Given the description of an element on the screen output the (x, y) to click on. 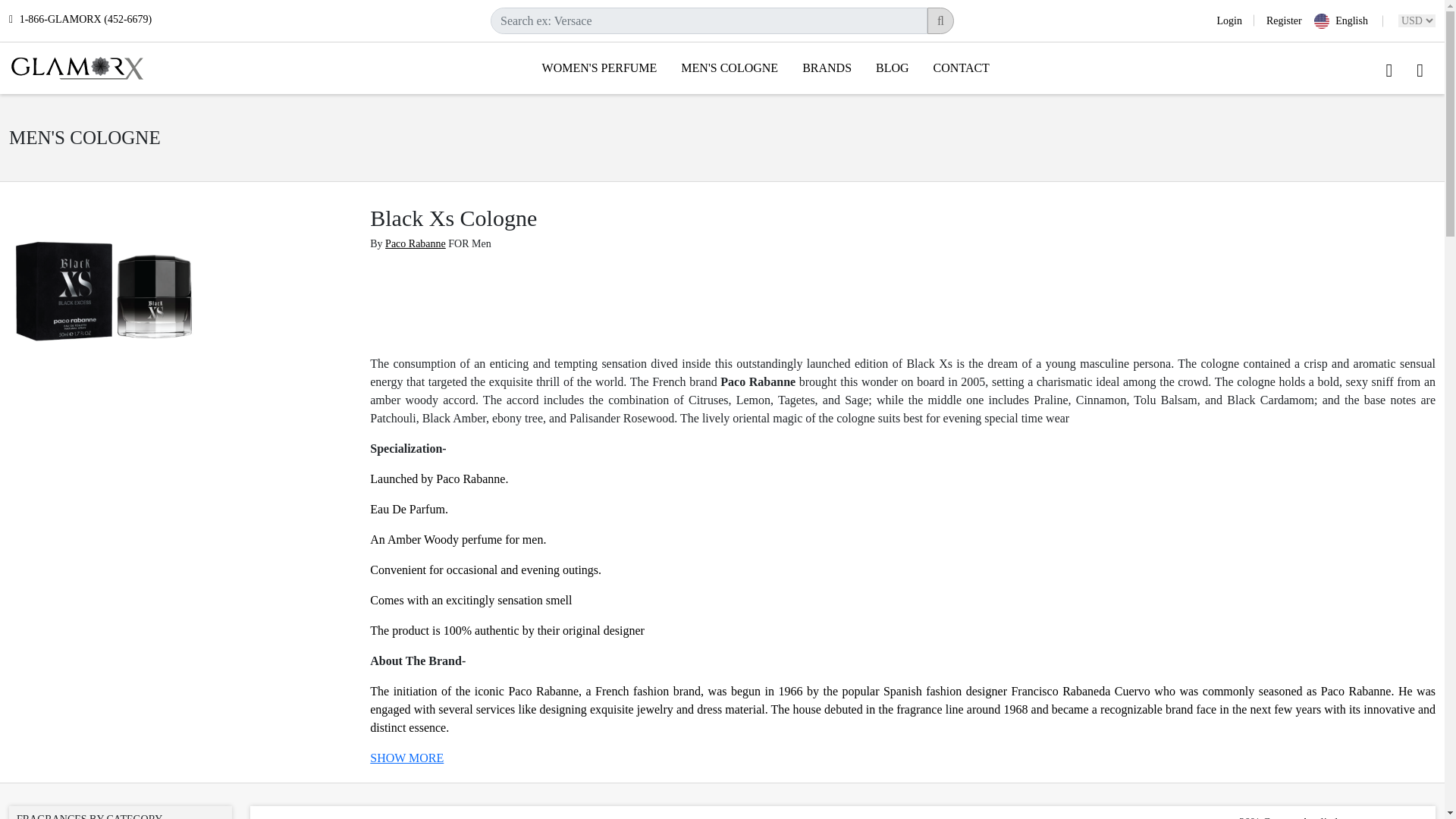
WOMEN'S PERFUME (599, 67)
SHOW MORE (406, 757)
MEN'S COLOGNE (729, 67)
BLOG (892, 67)
Paco Rabanne (415, 243)
Register (1277, 20)
English (1348, 21)
CONTACT (961, 67)
BRANDS (826, 67)
Login (1235, 20)
